Given the description of an element on the screen output the (x, y) to click on. 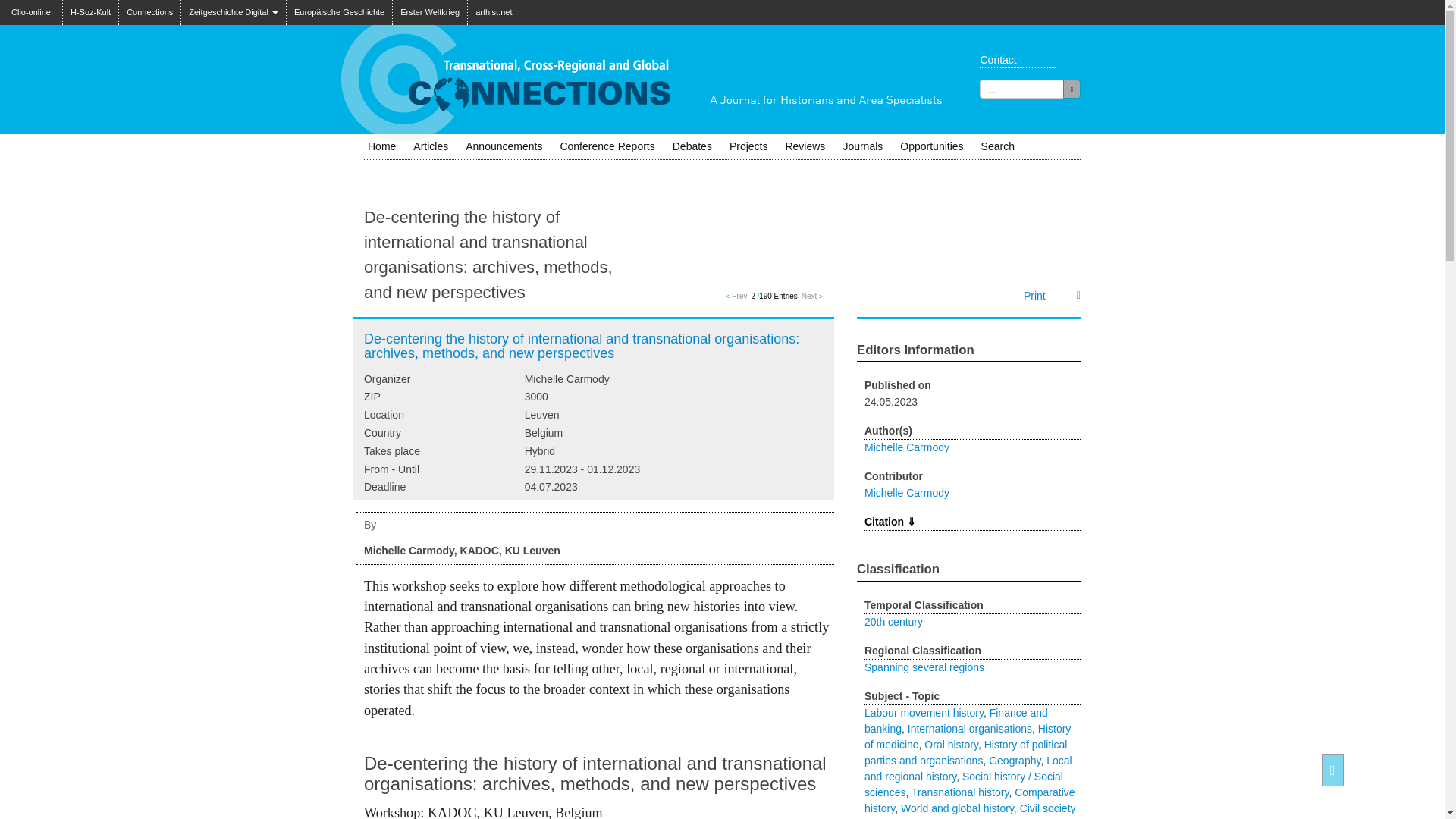
Contact (1013, 59)
Debates (692, 146)
Connections (149, 12)
arthist.net (493, 12)
Search (1071, 88)
Erster Weltkrieg (430, 12)
Articles (430, 146)
Journals (861, 146)
Home (381, 146)
Zeitgeschichte Digital (232, 12)
Conference Reports (606, 146)
Search (998, 146)
Announcements (504, 146)
Reviews (804, 146)
